Given the description of an element on the screen output the (x, y) to click on. 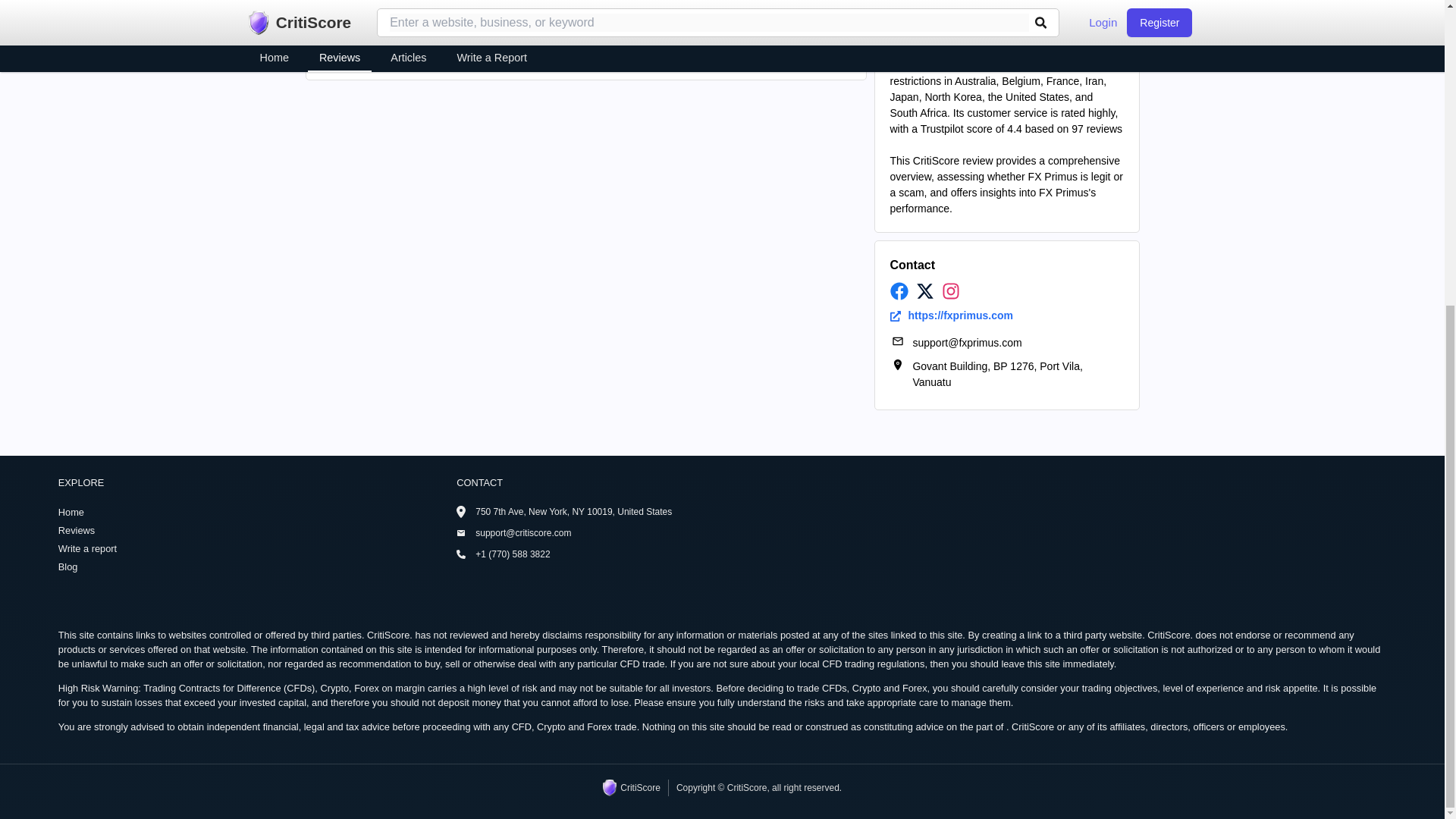
Blog (257, 566)
Home (257, 512)
Write a report (257, 548)
Reviews (257, 530)
